Given the description of an element on the screen output the (x, y) to click on. 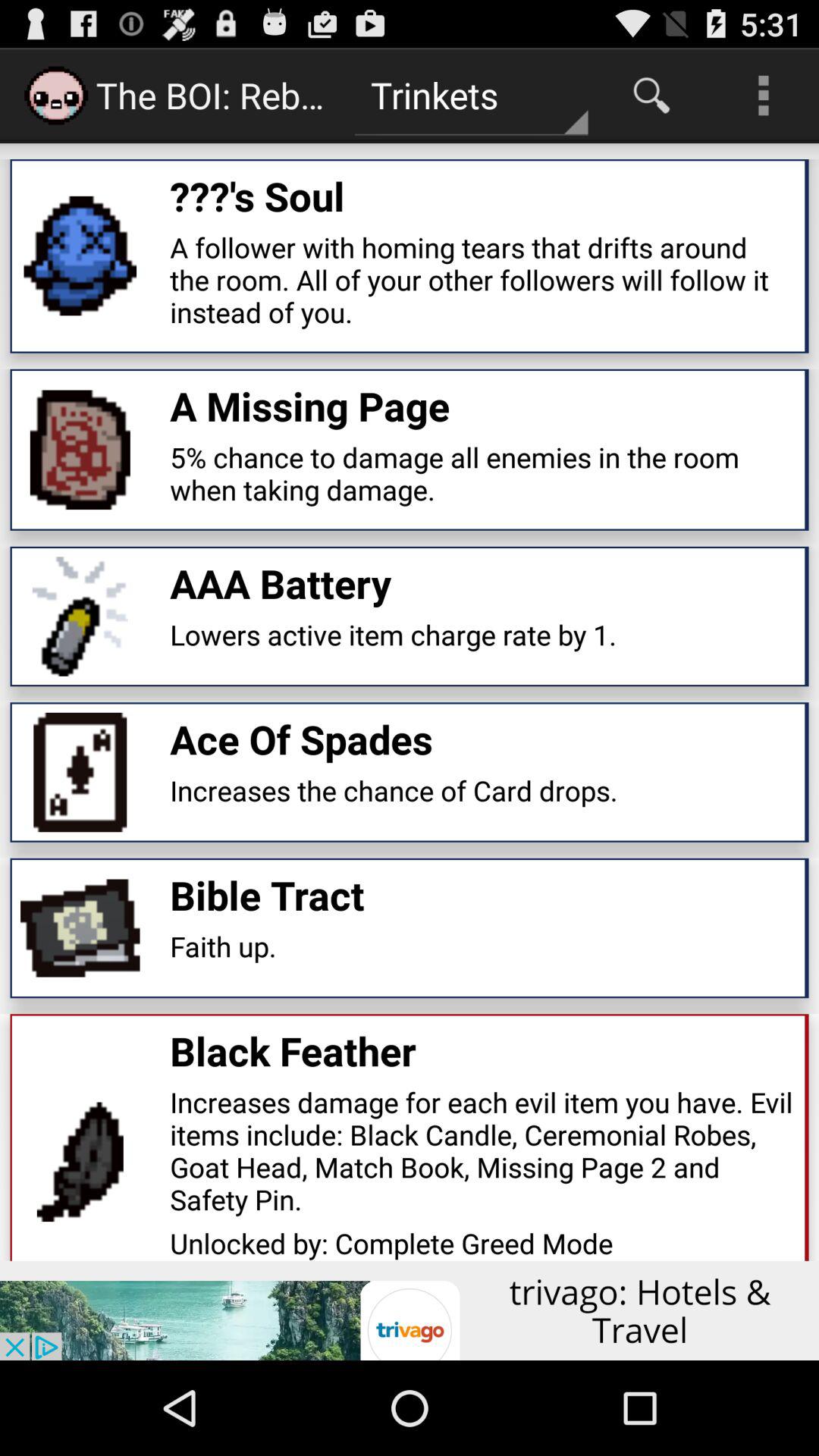
advertisement area (409, 1310)
